Given the description of an element on the screen output the (x, y) to click on. 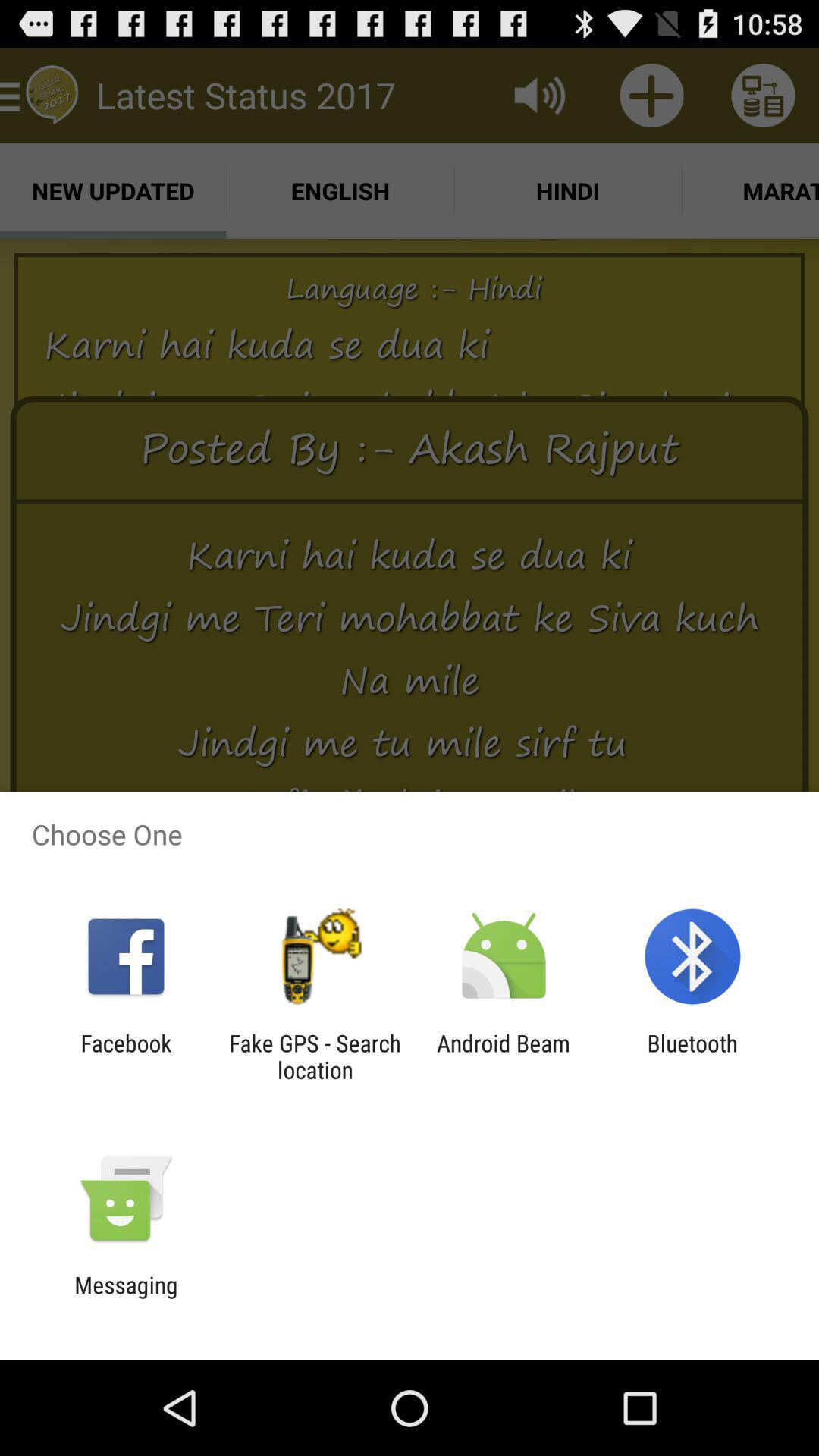
open the bluetooth item (692, 1056)
